Given the description of an element on the screen output the (x, y) to click on. 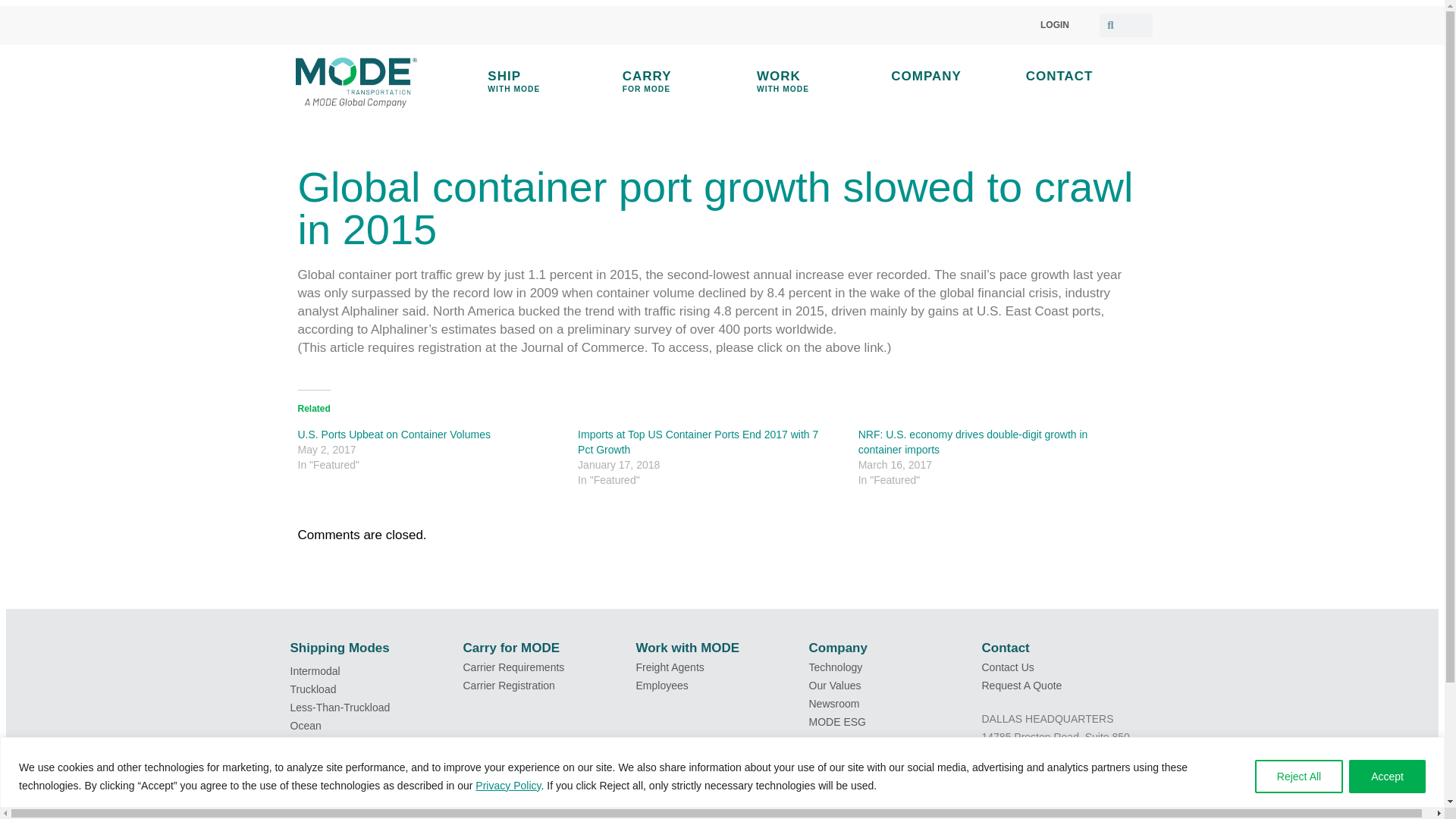
Accept (1387, 776)
Privacy (494, 785)
U.S. Ports Upbeat on Container Volumes (393, 433)
COMPANY (948, 76)
Policy (814, 82)
Reject All (526, 785)
Imports at Top US Container Ports End 2017 with 7 Pct Growth (680, 82)
